Given the description of an element on the screen output the (x, y) to click on. 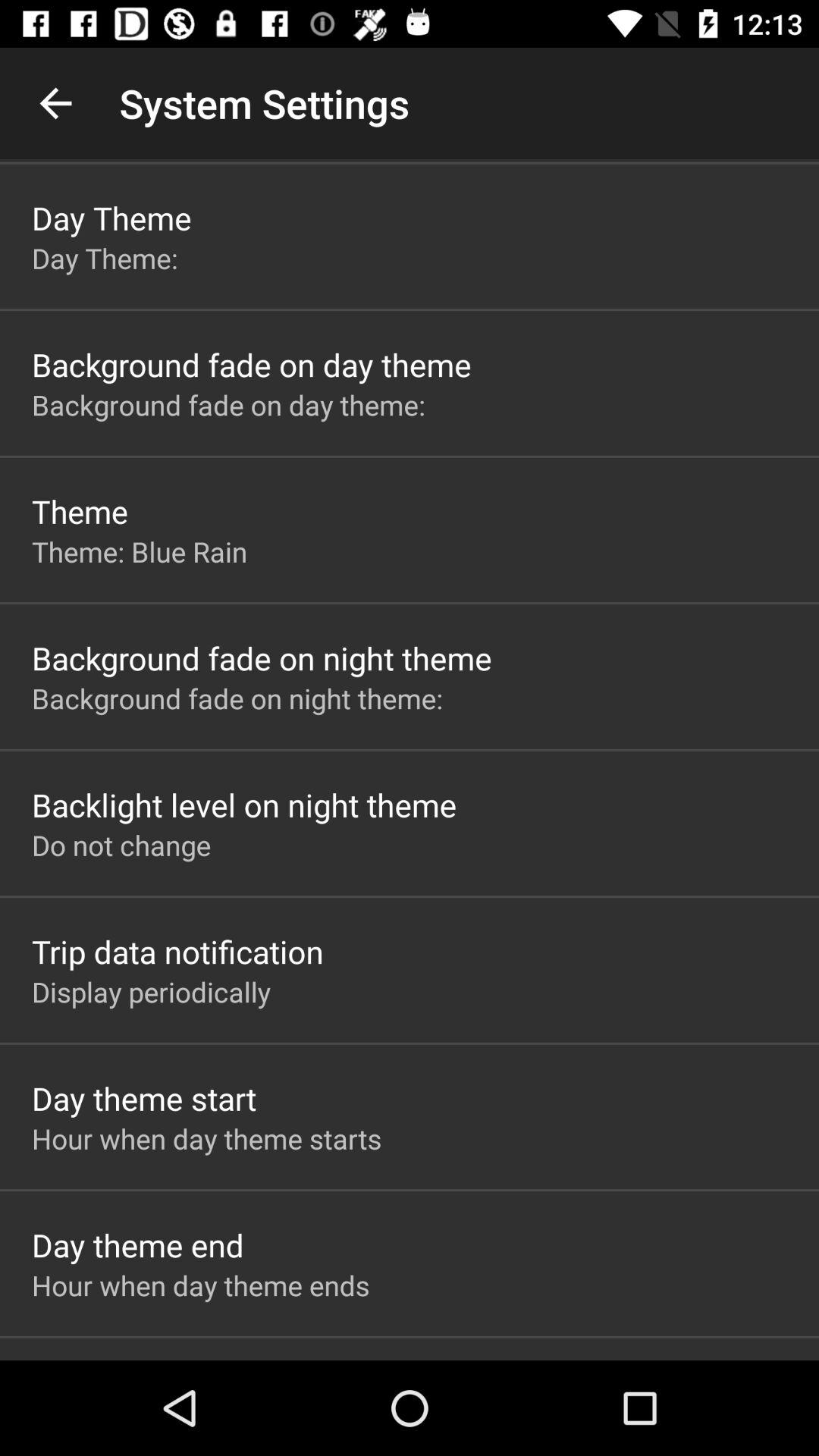
open the backlight level on icon (243, 804)
